Given the description of an element on the screen output the (x, y) to click on. 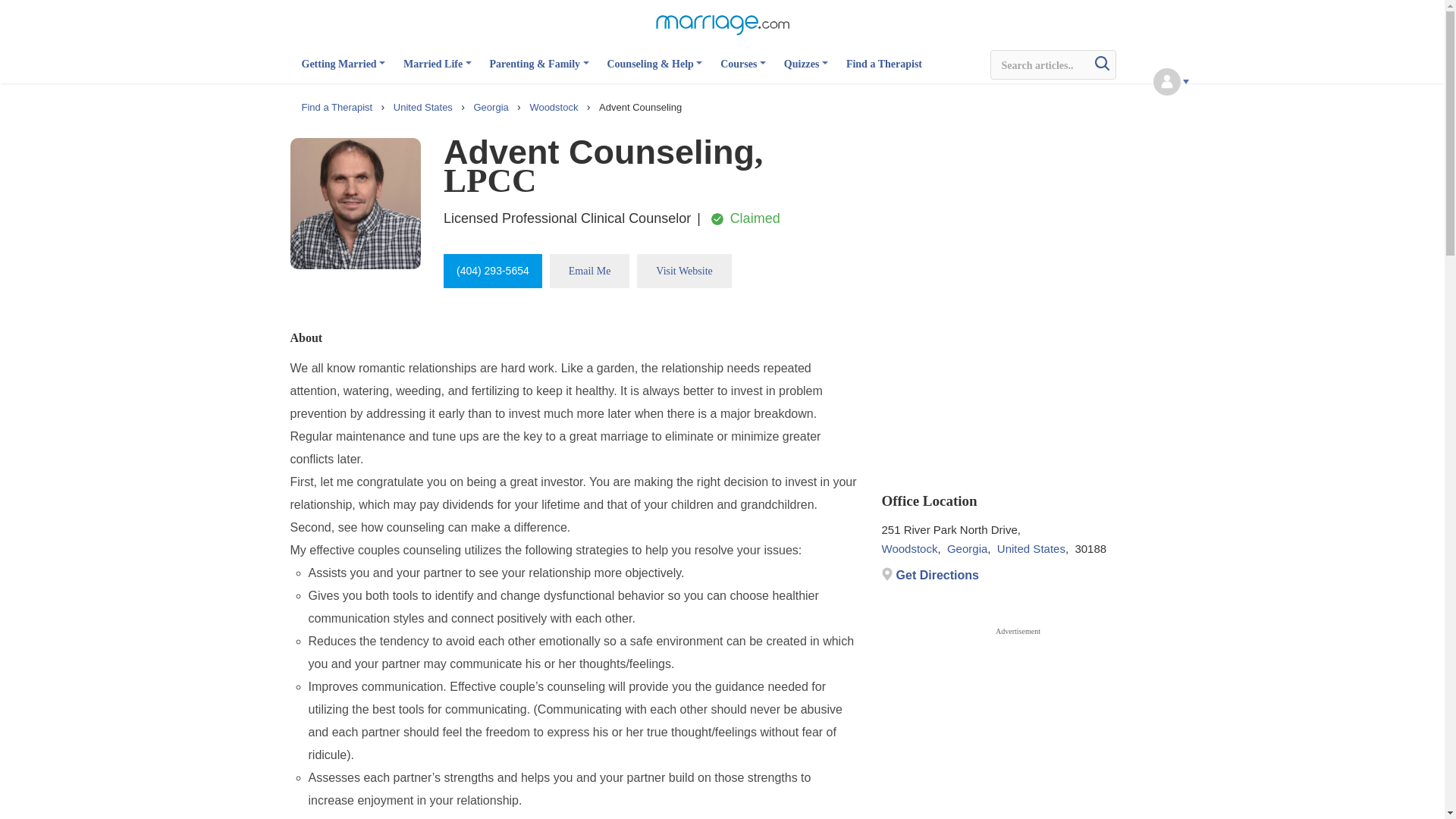
Find a Therapist (883, 70)
Marriage Therapist (338, 107)
Send email to Advent Counseling (590, 270)
Marriage Therapists in Woodstock, woodstock (908, 548)
Courses (742, 70)
Married Life (437, 70)
Visit Advent Counseling website (683, 270)
Marriage Therapists in United States (424, 107)
Marriage Therapists in Georgia (492, 107)
Find a Therapist (338, 107)
Marriage Therapists in Georgia (967, 548)
Quizzes (806, 70)
Marriage Therapists in Woodstock (554, 107)
Marriage Therapists in United States (1031, 548)
